Given the description of an element on the screen output the (x, y) to click on. 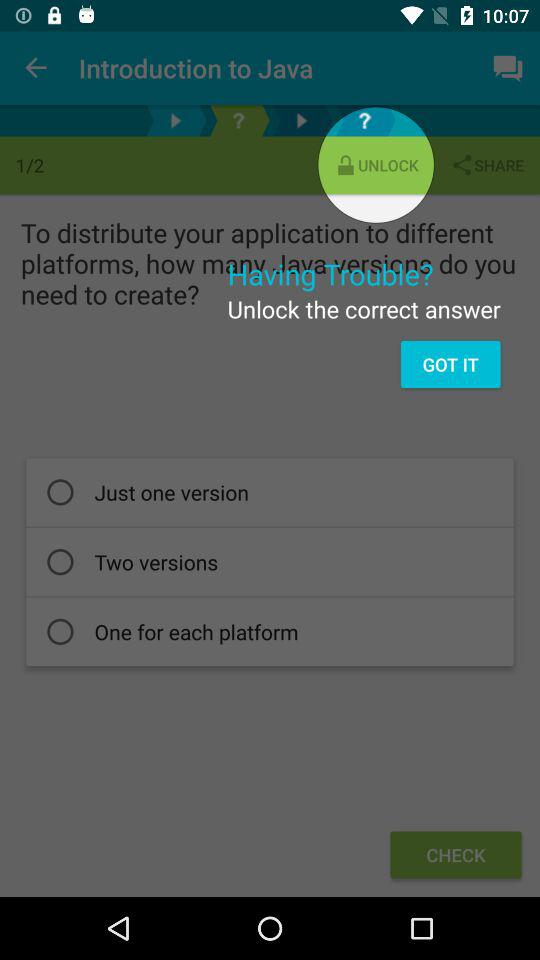
click arrow button (175, 120)
